Given the description of an element on the screen output the (x, y) to click on. 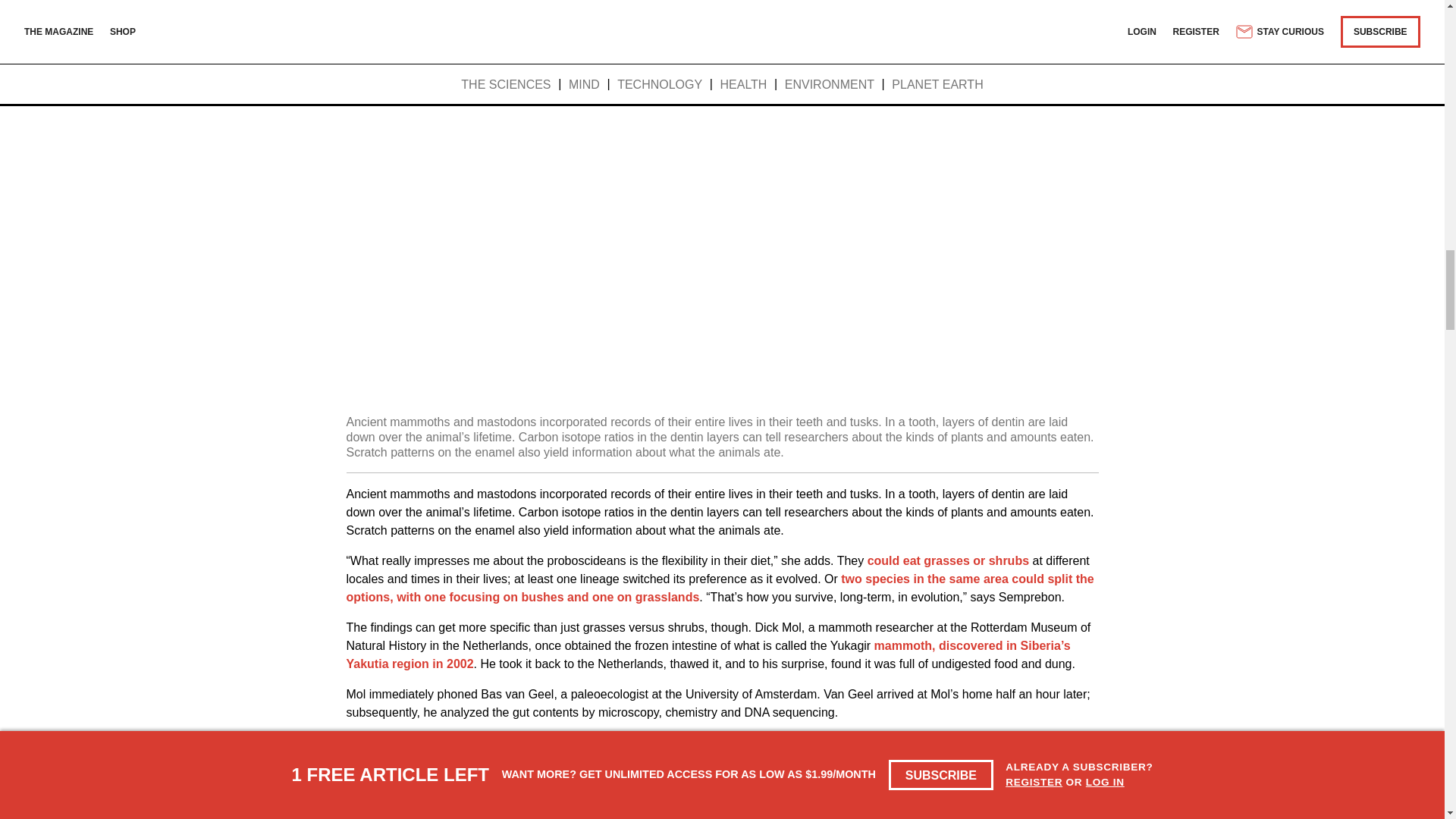
could eat grasses or shrubs (948, 560)
